Given the description of an element on the screen output the (x, y) to click on. 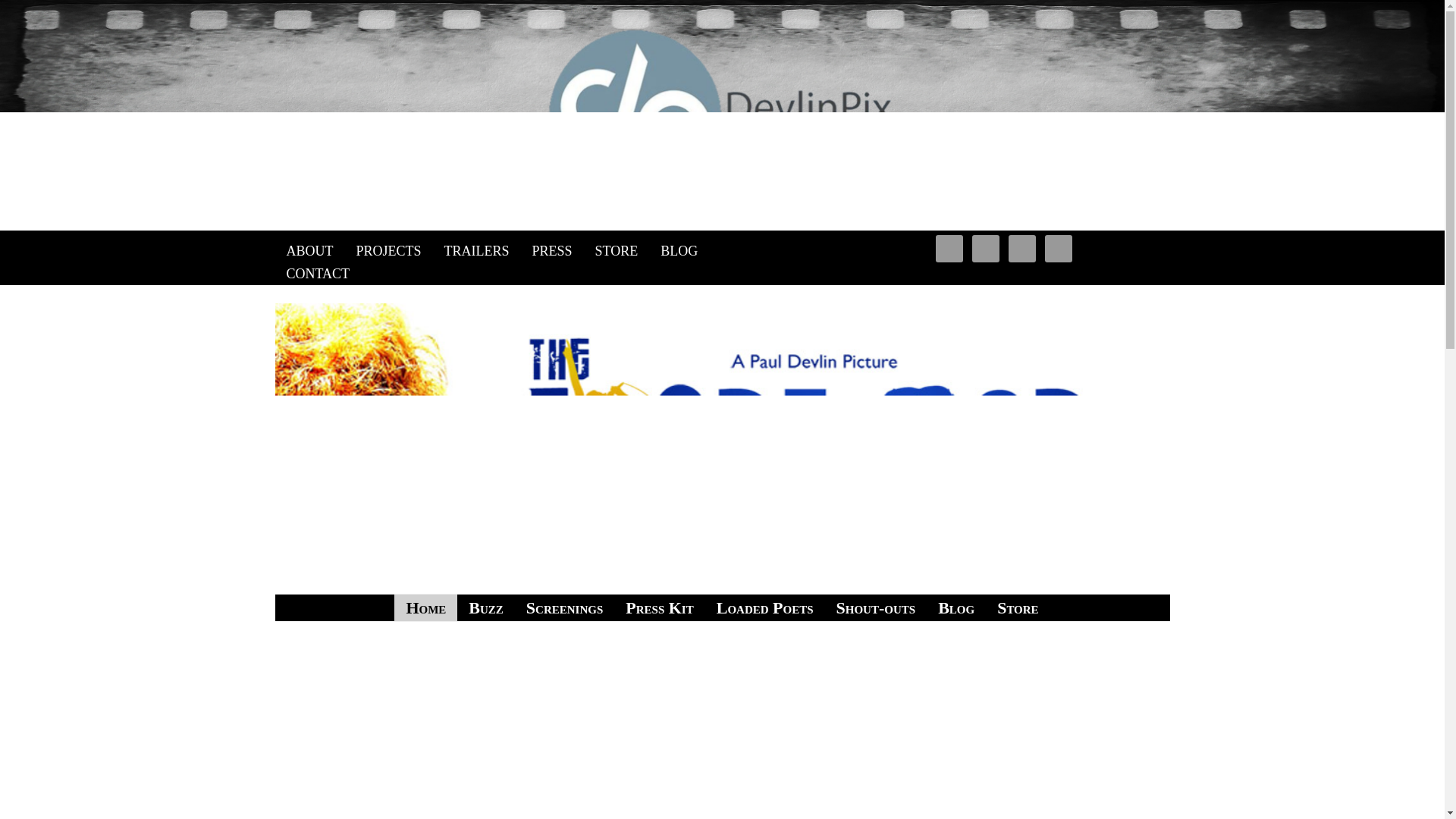
Store (1017, 607)
ABOUT (309, 250)
Blog (955, 607)
Home (425, 607)
Loaded Poets (764, 607)
CONTACT (318, 273)
Press Kit (659, 607)
Buzz (486, 607)
Screenings (564, 607)
Shout-outs (876, 607)
PRESS (552, 250)
STORE (616, 250)
BLOG (679, 250)
PROJECTS (387, 250)
TRAILERS (476, 250)
